Given the description of an element on the screen output the (x, y) to click on. 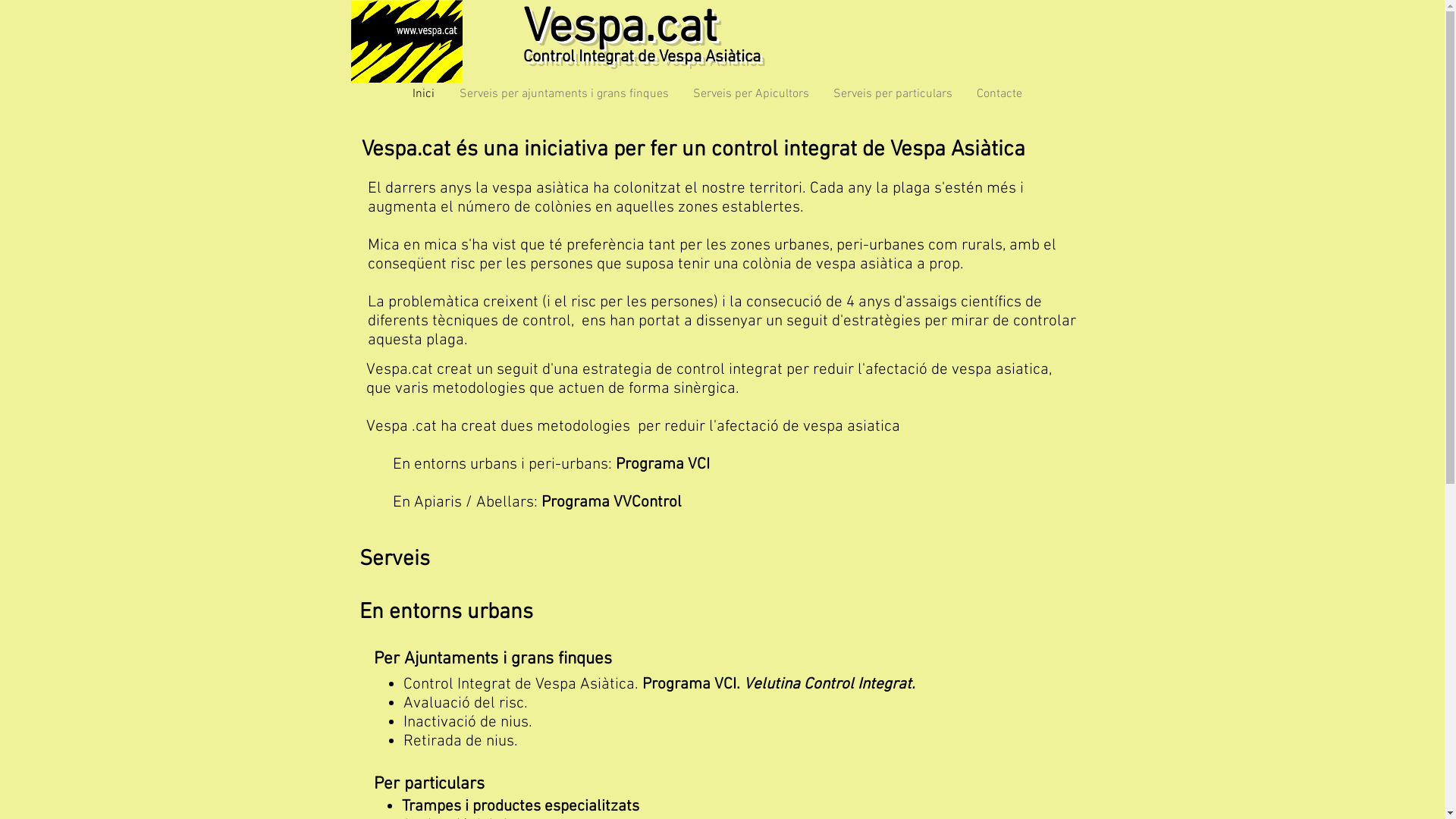
Serveis per Apicultors Element type: text (749, 94)
Serveis per particulars Element type: text (891, 94)
Inici Element type: text (421, 94)
Contacte Element type: text (997, 94)
Serveis per ajuntaments i grans finques Element type: text (562, 94)
